Given the description of an element on the screen output the (x, y) to click on. 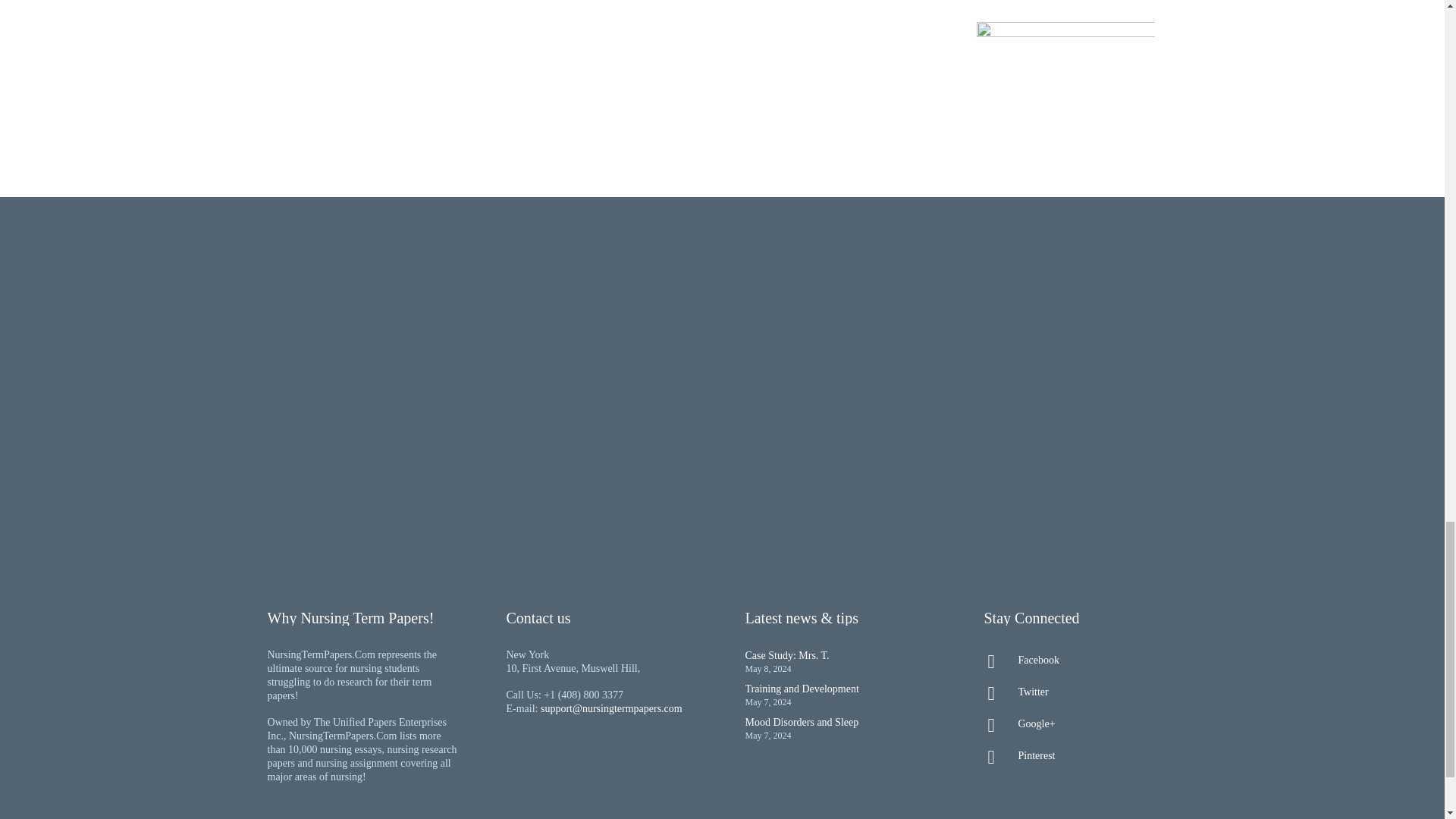
Case Study: Mrs. T. (786, 655)
Training and Development (801, 688)
Facebook (1080, 660)
Pinterest (1080, 755)
Twitter (1080, 692)
Mood Disorders and Sleep (801, 722)
